Given the description of an element on the screen output the (x, y) to click on. 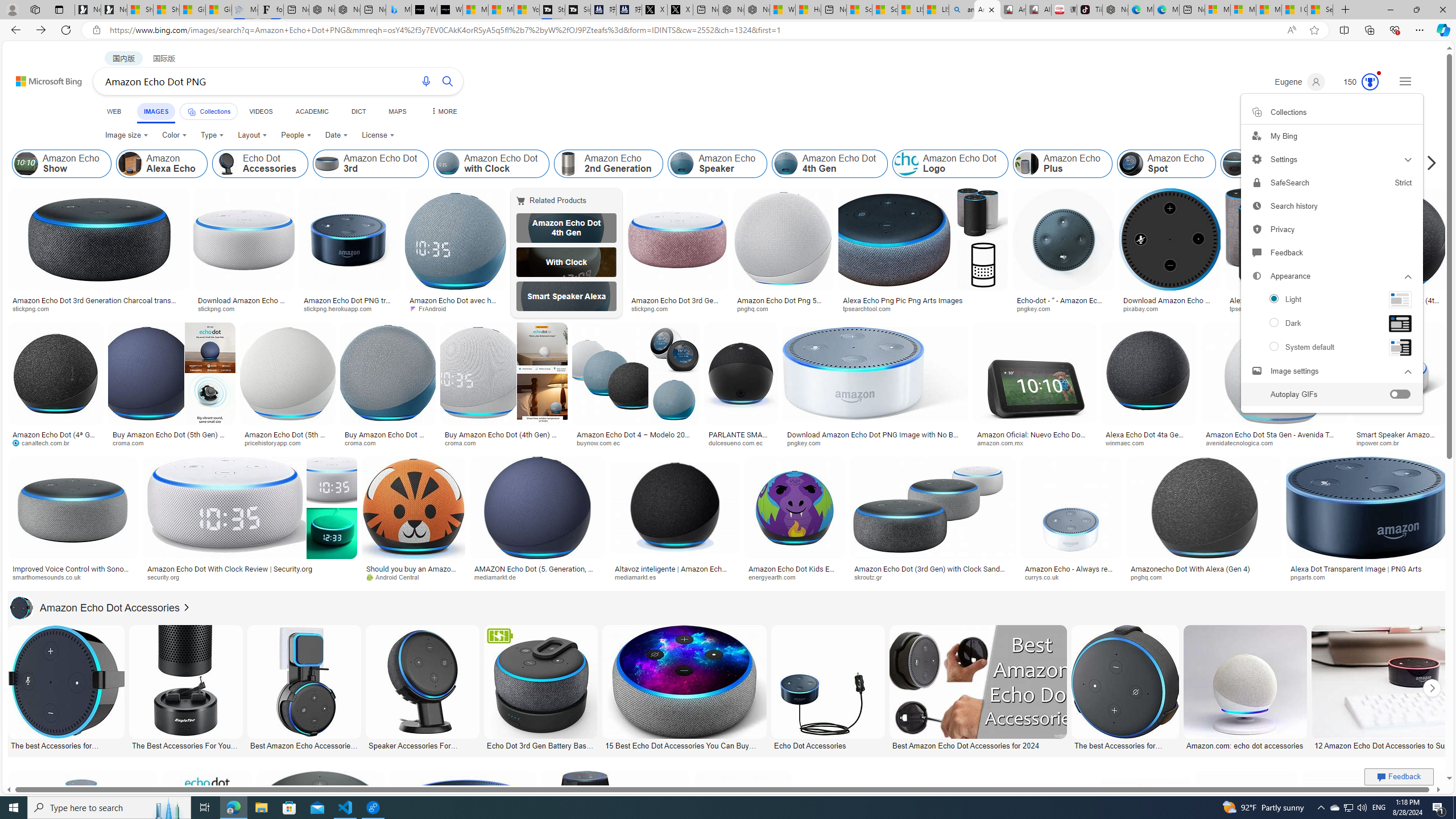
amazon.com.mx (1003, 442)
Amazon Echo Plus (1062, 163)
Echo Dot Accessories (828, 744)
Amazonecho Dot With Alexa (Gen 4)pnghq.comSave (1205, 521)
People (295, 135)
pricehistoryapp.com (287, 442)
Amazon Echo Dot with Clock (447, 163)
pngkey.com (875, 442)
Echo Dot Accessories (226, 163)
